Given the description of an element on the screen output the (x, y) to click on. 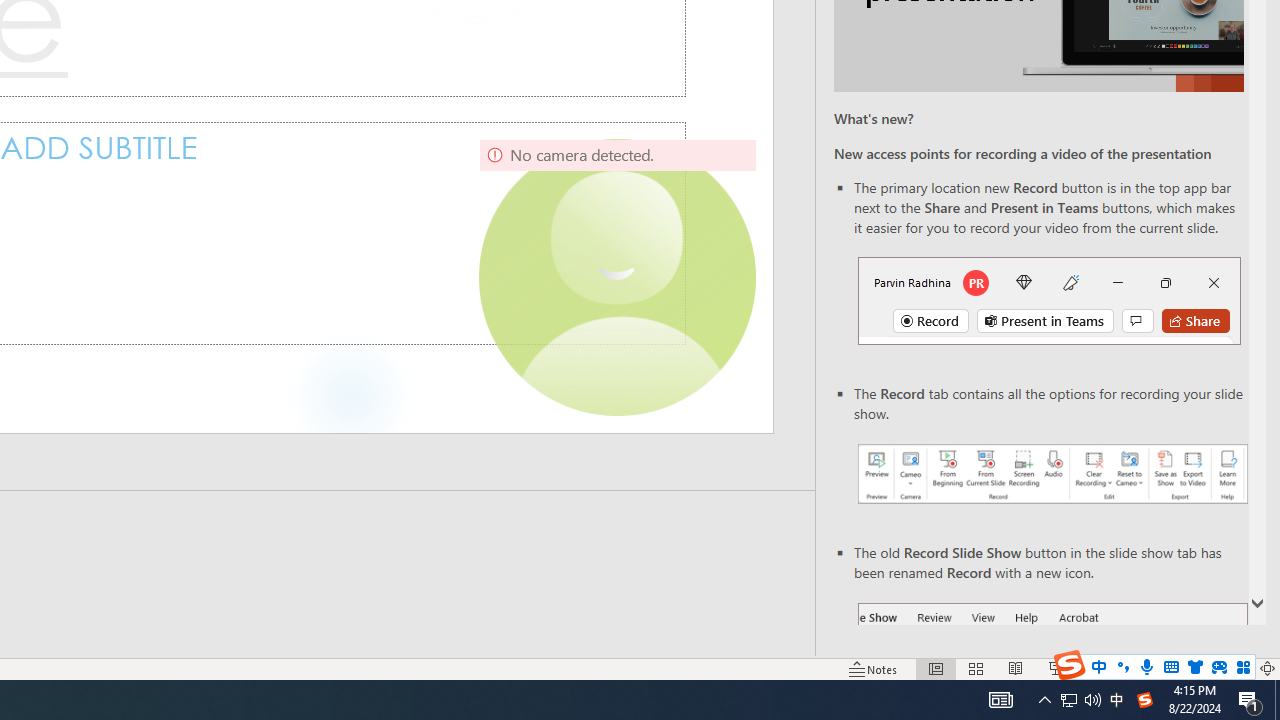
Record button in top bar (1049, 300)
Zoom 131% (1234, 668)
Record your presentations screenshot one (1052, 473)
